Given the description of an element on the screen output the (x, y) to click on. 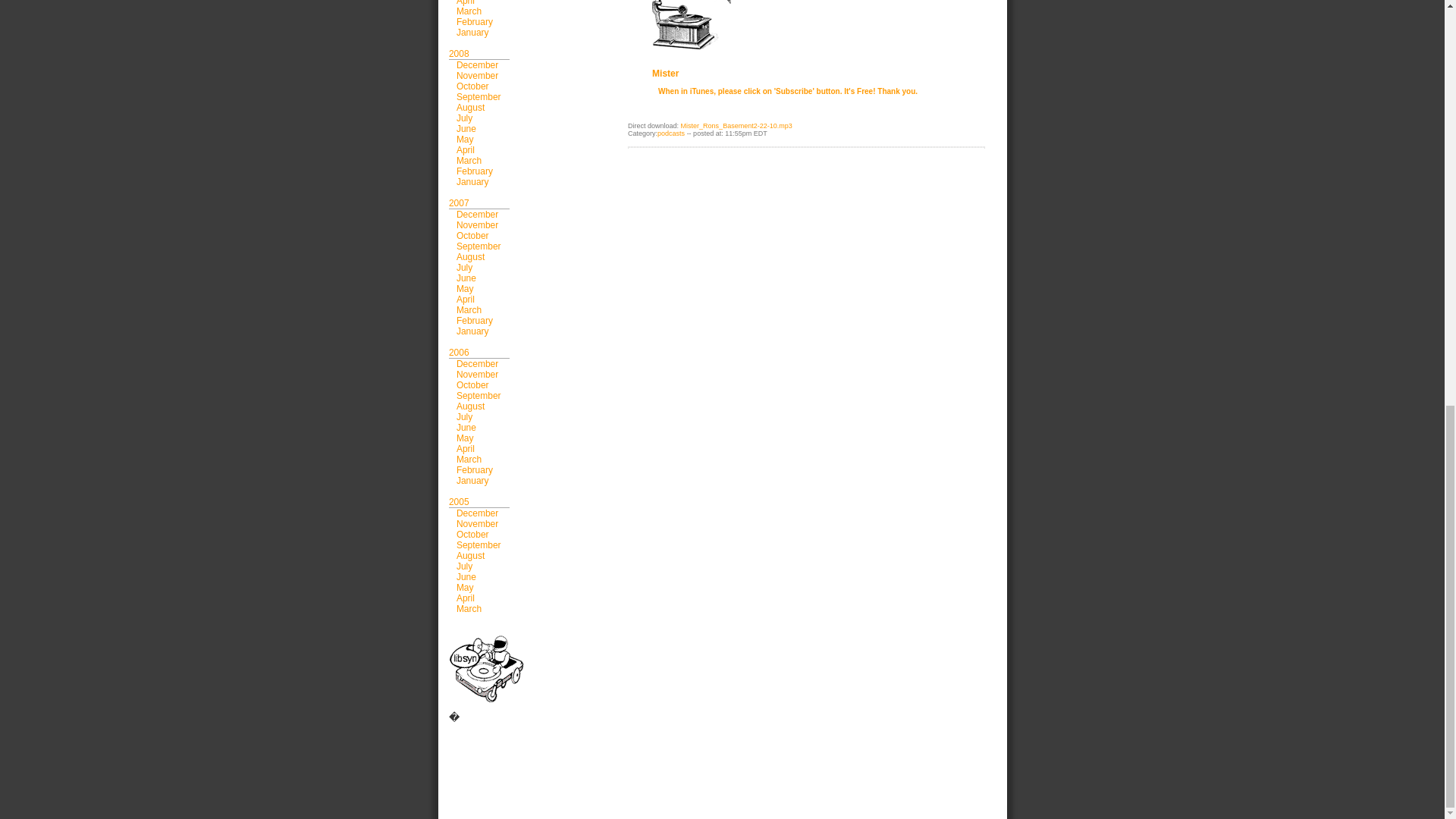
March (469, 10)
April (465, 2)
February (475, 21)
January (473, 32)
